Given the description of an element on the screen output the (x, y) to click on. 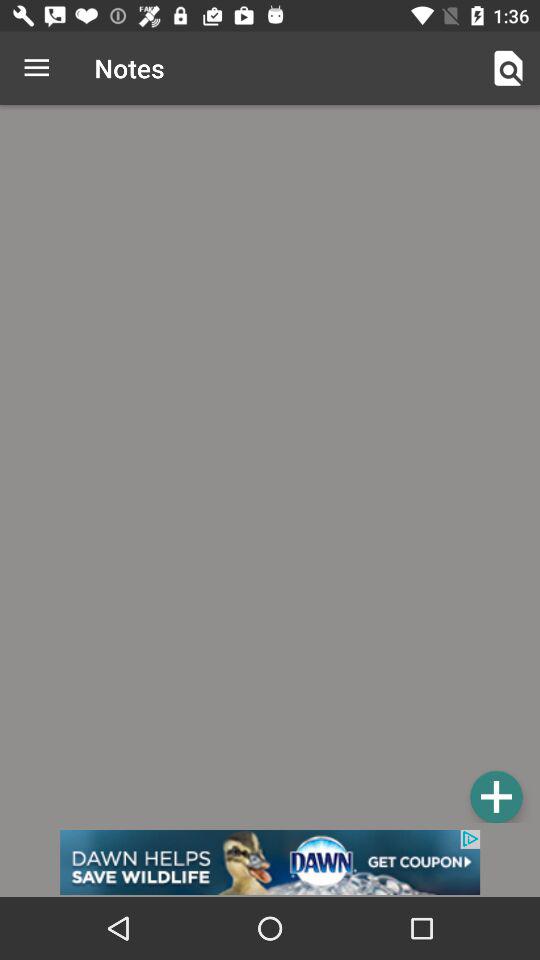
click on advertisement (270, 861)
